Given the description of an element on the screen output the (x, y) to click on. 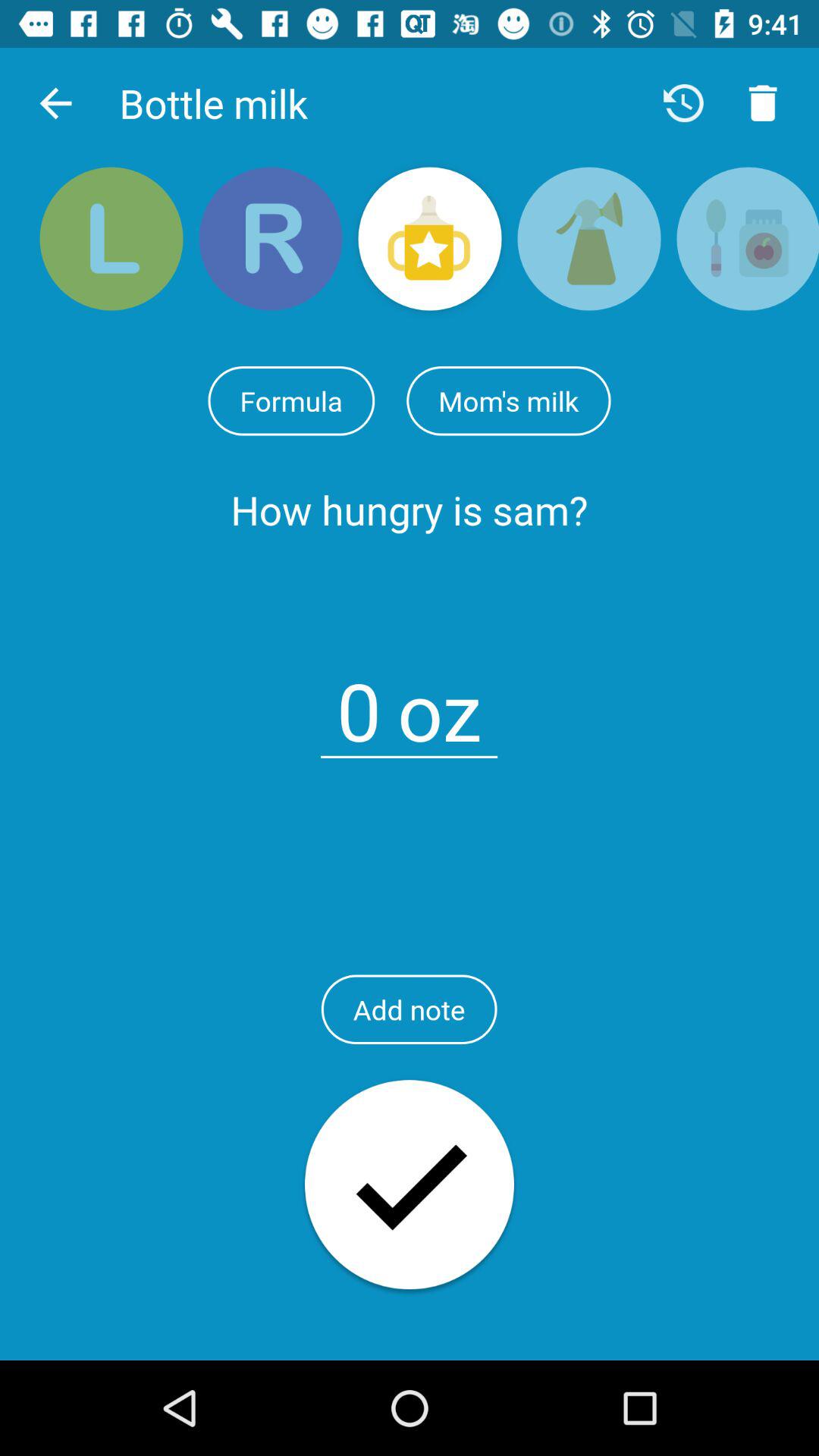
input number (358, 702)
